Given the description of an element on the screen output the (x, y) to click on. 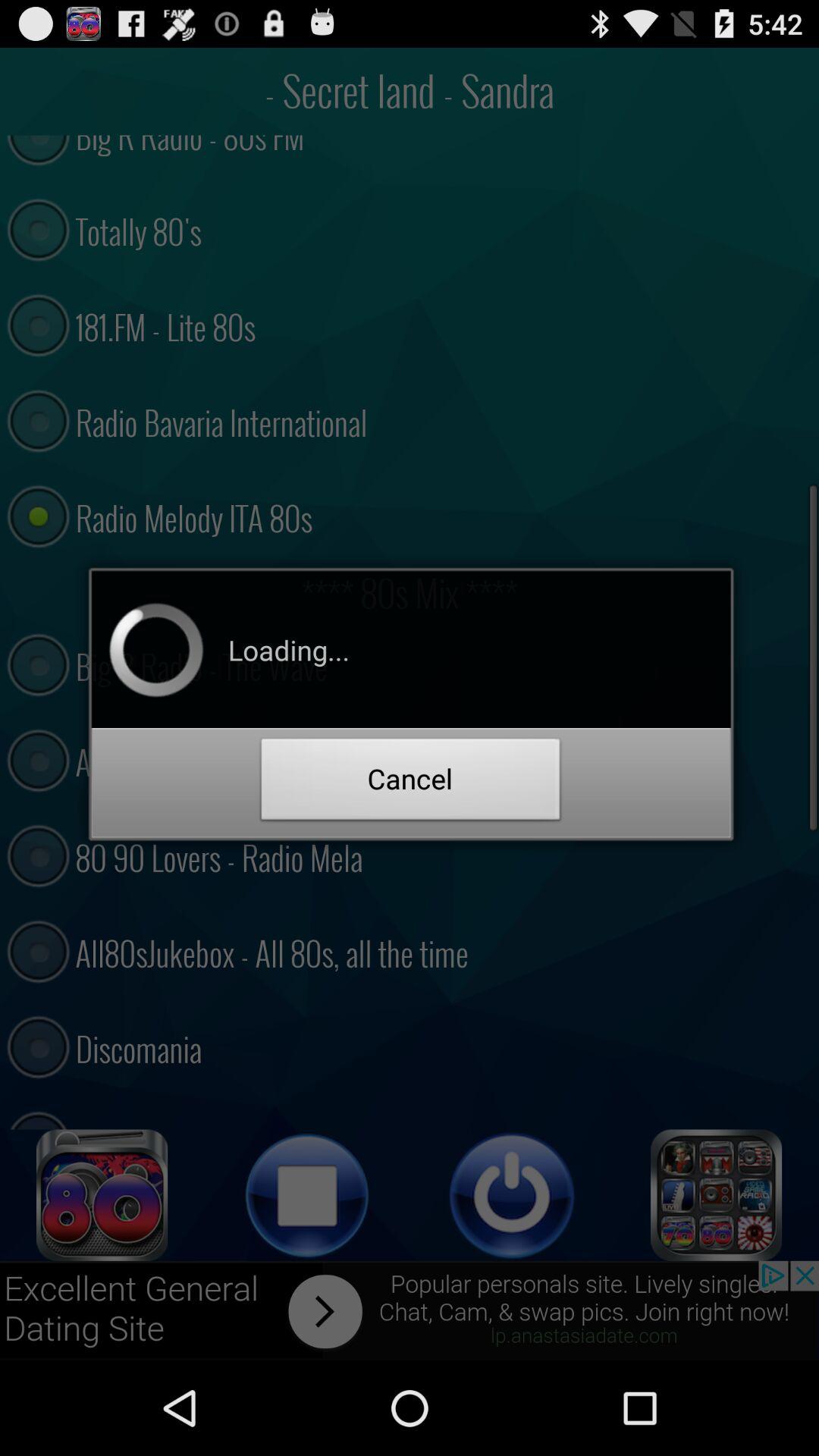
power off (511, 1194)
